Given the description of an element on the screen output the (x, y) to click on. 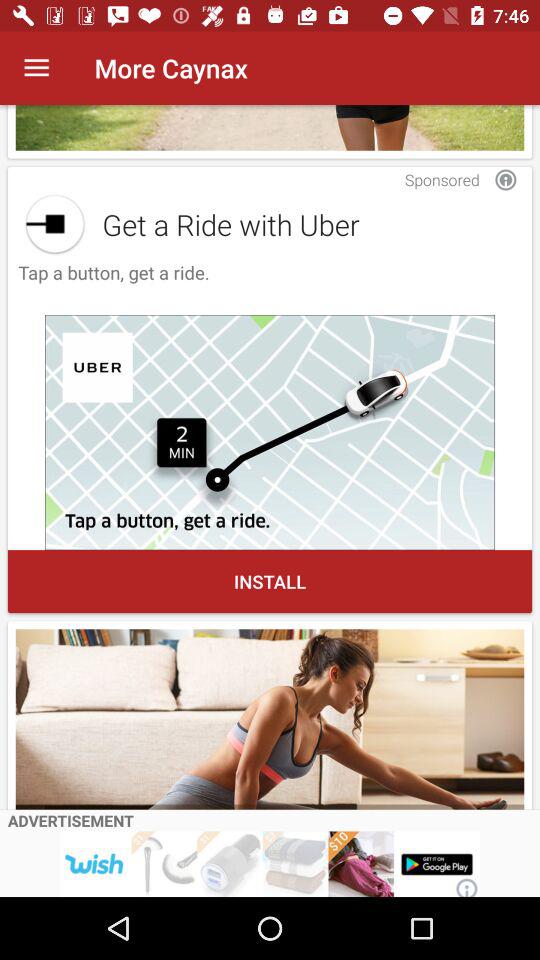
install uber app (269, 432)
